Given the description of an element on the screen output the (x, y) to click on. 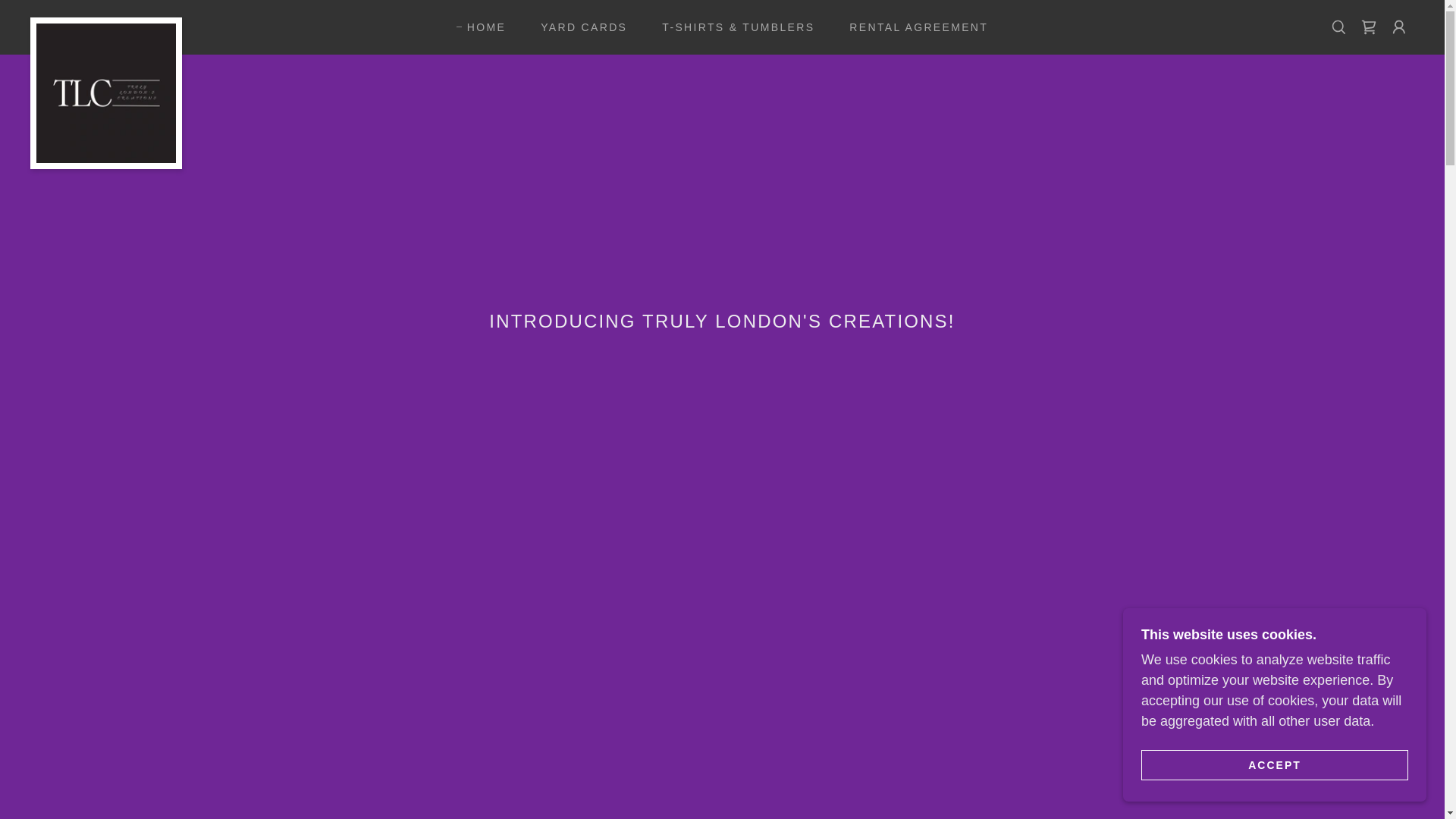
RENTAL AGREEMENT (913, 26)
HOME (481, 27)
YARD CARDS (578, 26)
